Given the description of an element on the screen output the (x, y) to click on. 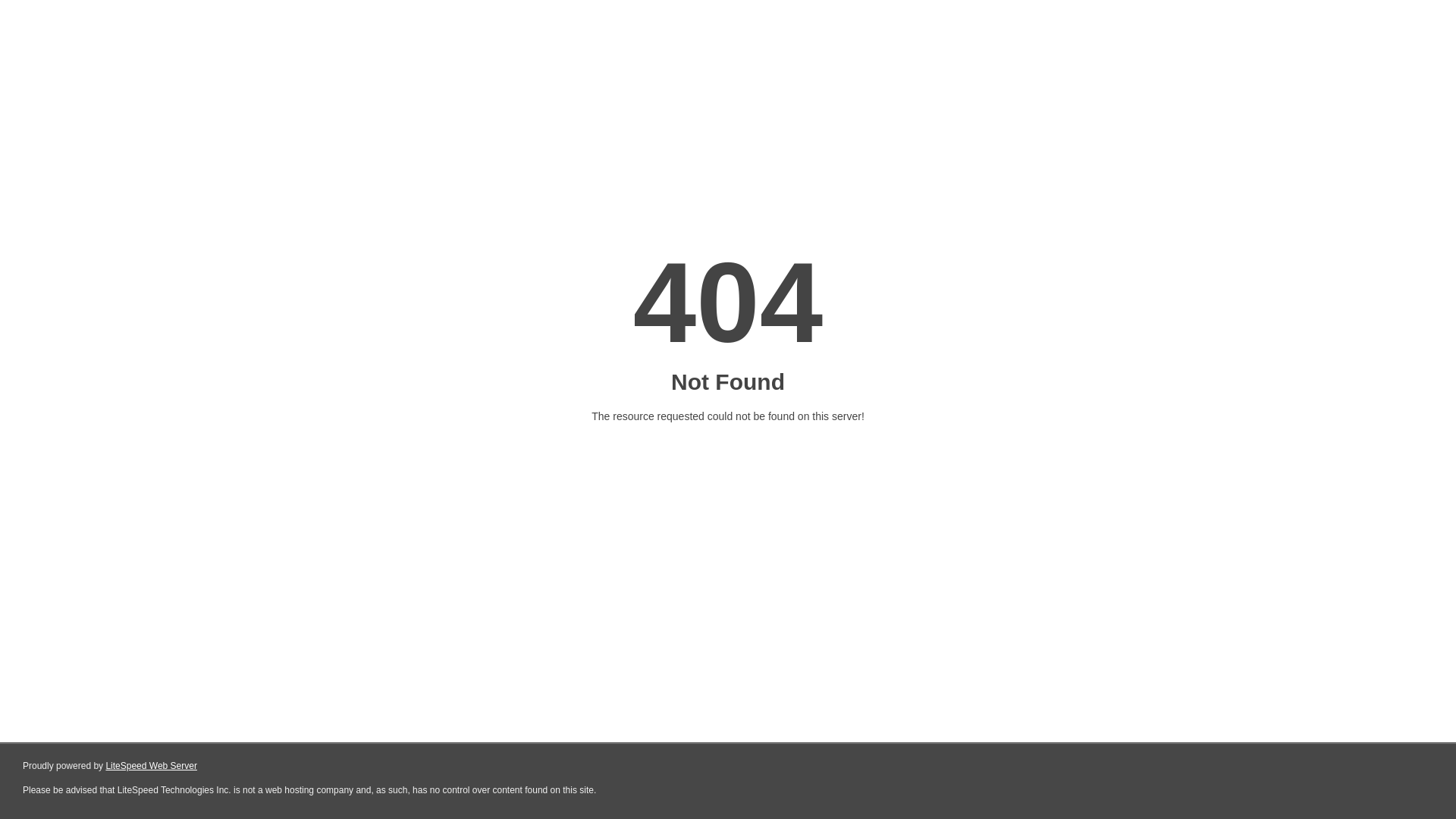
LiteSpeed Web Server Element type: text (151, 765)
